Given the description of an element on the screen output the (x, y) to click on. 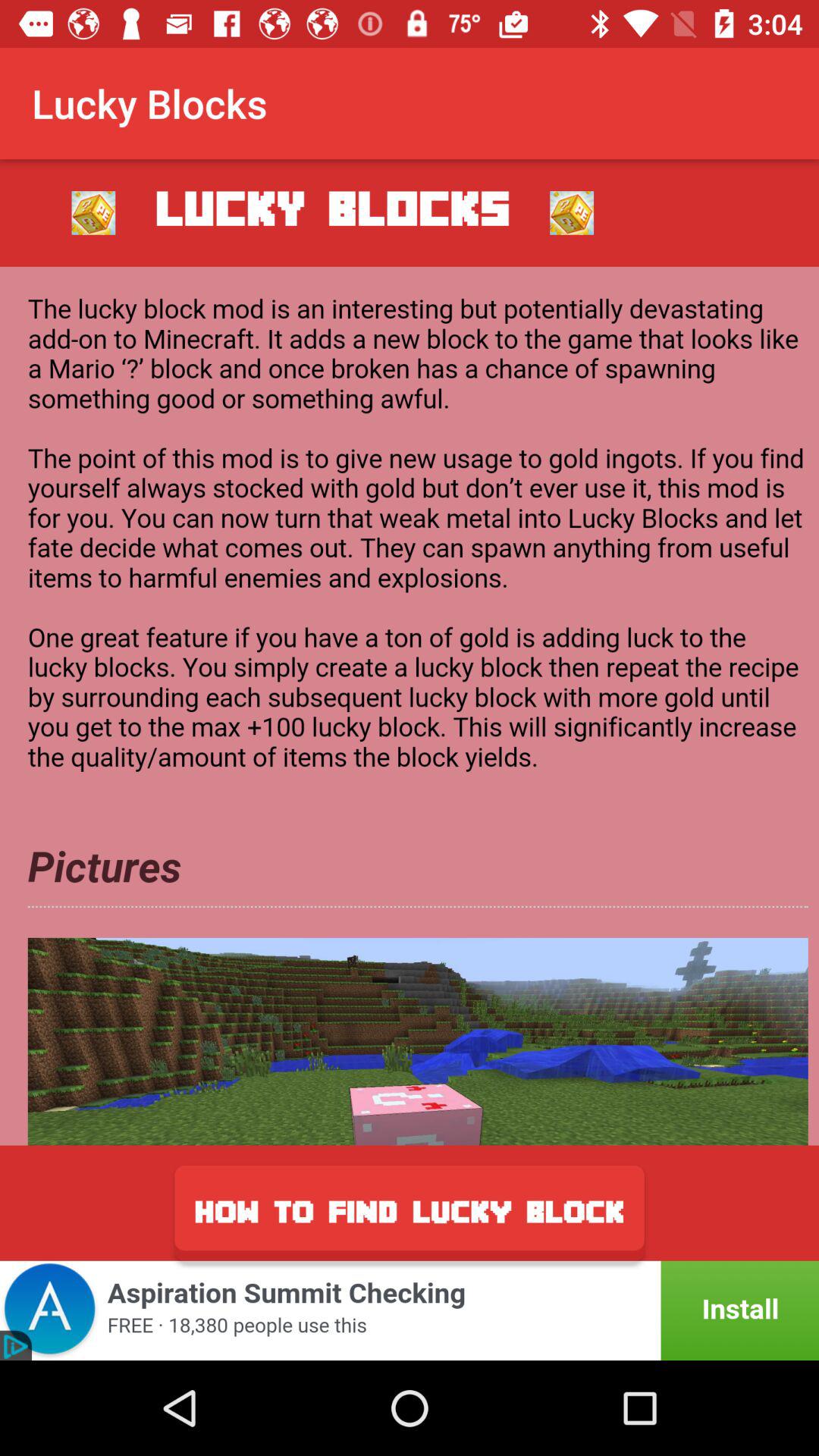
show information (409, 705)
